Given the description of an element on the screen output the (x, y) to click on. 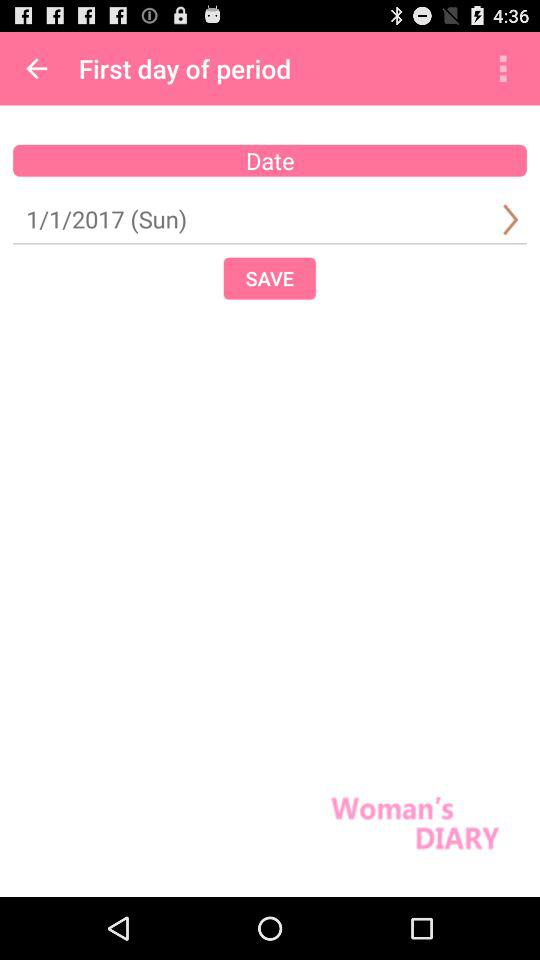
turn on app to the left of the first day of app (36, 68)
